Given the description of an element on the screen output the (x, y) to click on. 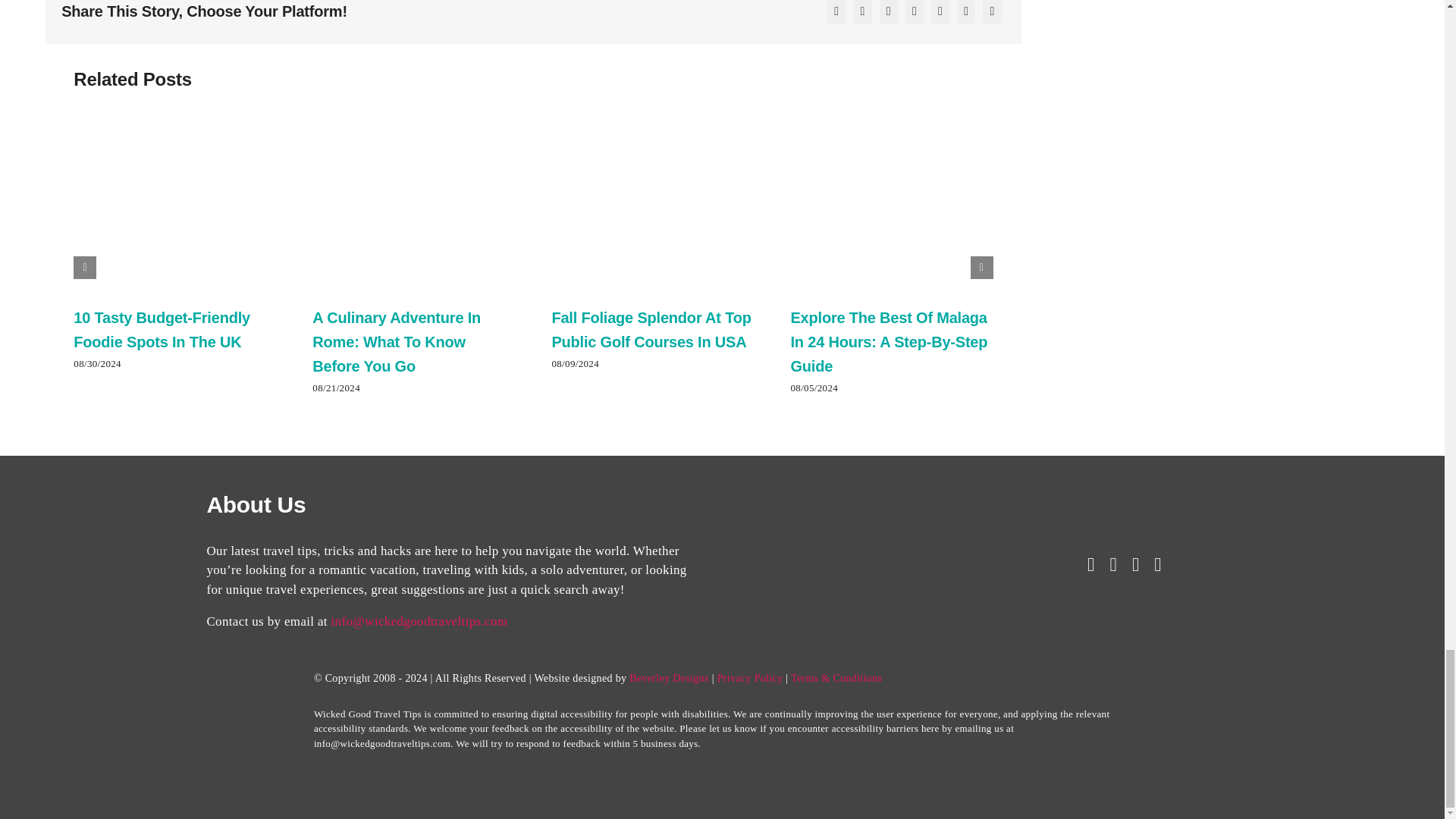
10 Tasty Budget-Friendly Foodie Spots in the UK (162, 329)
Pinterest (991, 13)
WhatsApp (940, 13)
Fall Foliage Splendor at Top Public Golf Courses in USA (651, 329)
X (863, 13)
Telegram (965, 13)
Explore The Best of Malaga in 24 Hours: A Step-by-Step Guide (888, 341)
Reddit (888, 13)
A Culinary Adventure in Rome: What To Know Before You Go (396, 341)
LinkedIn (914, 13)
